Given the description of an element on the screen output the (x, y) to click on. 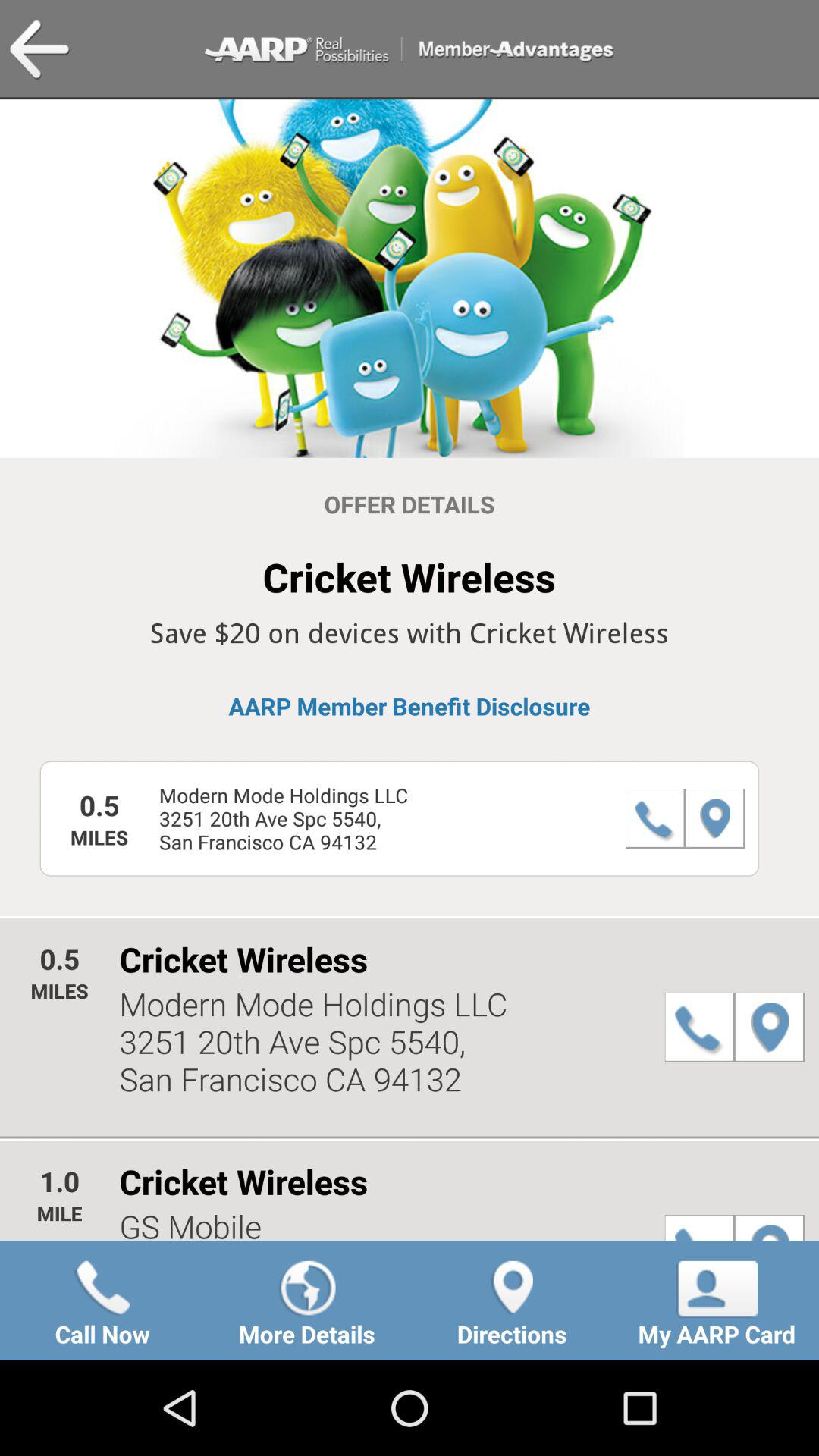
select the item below the save 20 on item (409, 706)
